Given the description of an element on the screen output the (x, y) to click on. 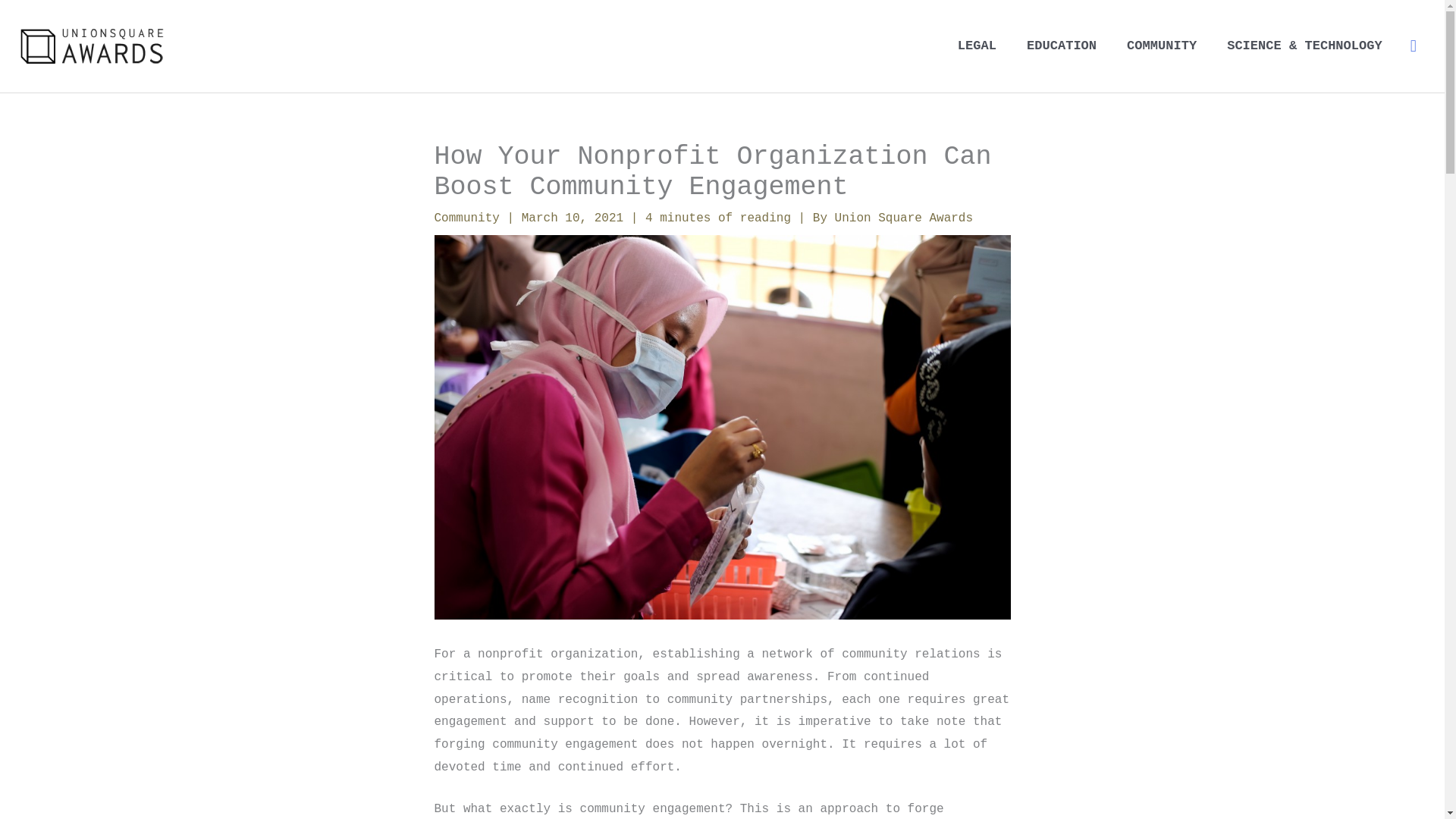
LEGAL (976, 46)
Community (466, 218)
EDUCATION (1061, 46)
Union Square Awards (903, 218)
COMMUNITY (1161, 46)
View all posts by Union Square Awards (903, 218)
